Given the description of an element on the screen output the (x, y) to click on. 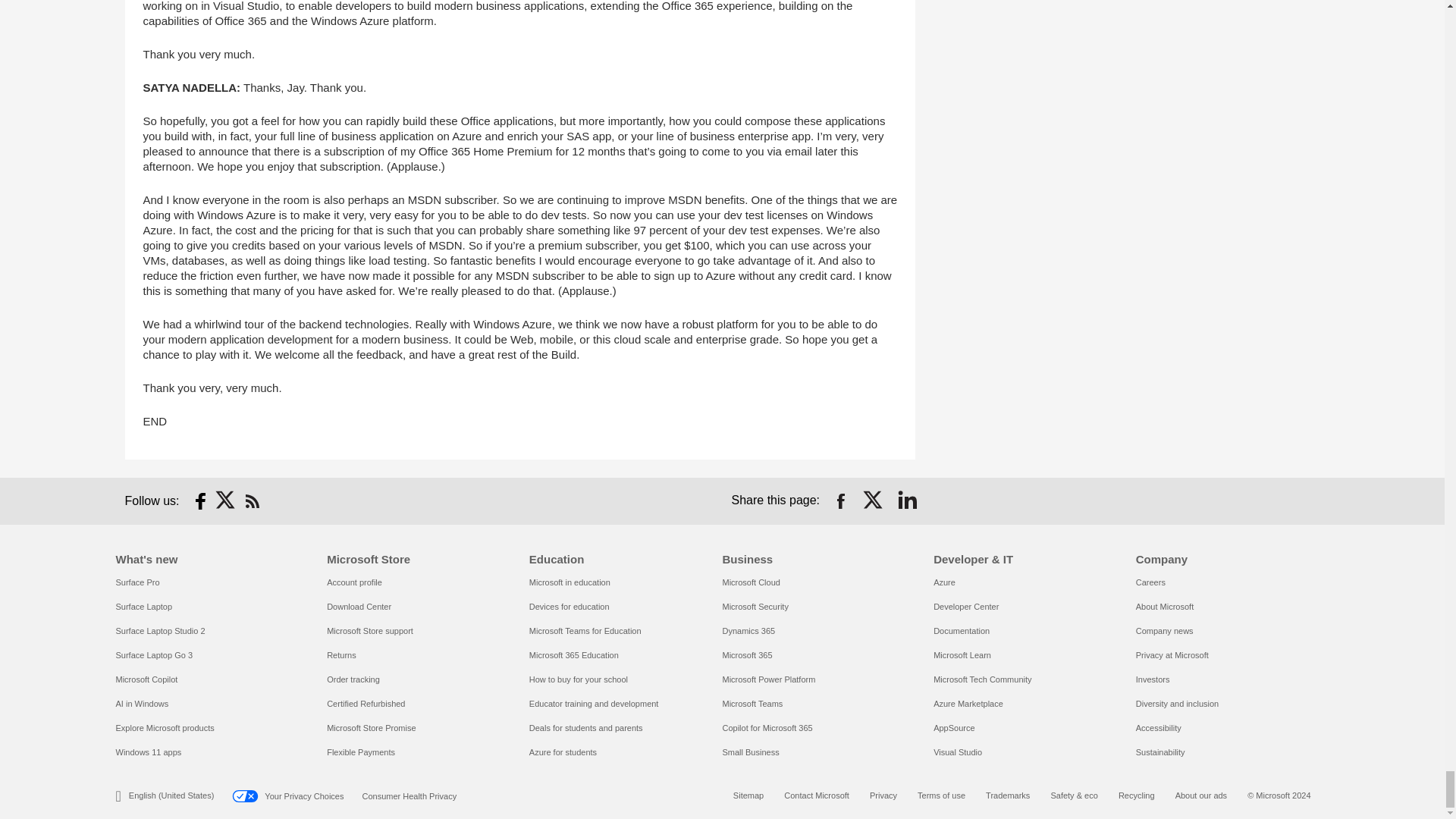
Share on LinkedIn (907, 500)
Share on Facebook (840, 500)
RSS Subscription (252, 500)
Follow on Facebook (200, 500)
Share on Twitter (873, 500)
Follow on Twitter (226, 500)
